Given the description of an element on the screen output the (x, y) to click on. 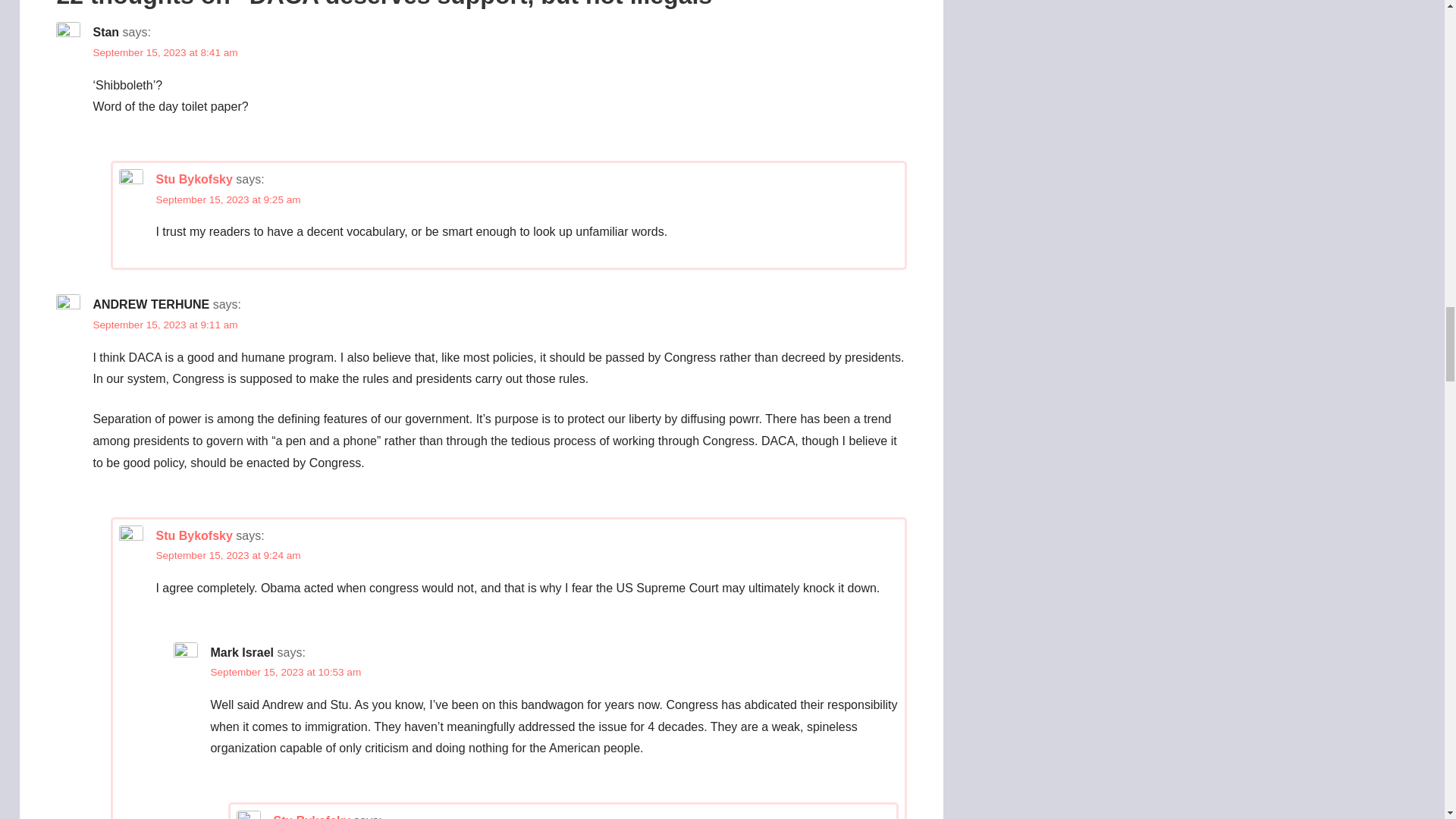
September 15, 2023 at 9:25 am (227, 199)
Stu Bykofsky (193, 178)
September 15, 2023 at 9:11 am (165, 324)
September 15, 2023 at 8:41 am (165, 52)
Stu Bykofsky (311, 816)
September 15, 2023 at 9:24 am (227, 555)
September 15, 2023 at 10:53 am (285, 672)
Stu Bykofsky (193, 535)
